Given the description of an element on the screen output the (x, y) to click on. 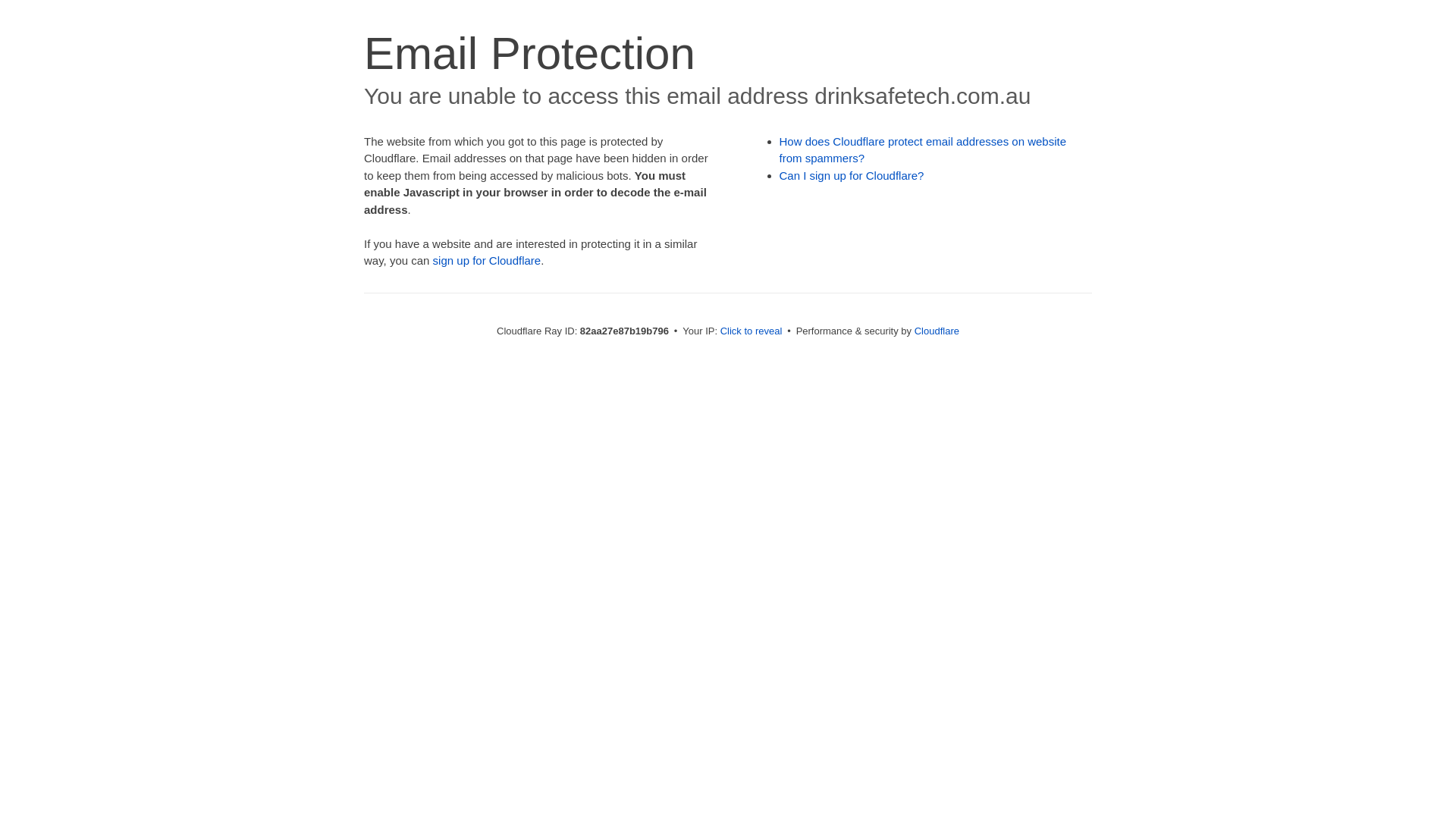
Can I sign up for Cloudflare? Element type: text (851, 175)
sign up for Cloudflare Element type: text (487, 260)
Click to reveal Element type: text (751, 330)
Cloudflare Element type: text (936, 330)
